Given the description of an element on the screen output the (x, y) to click on. 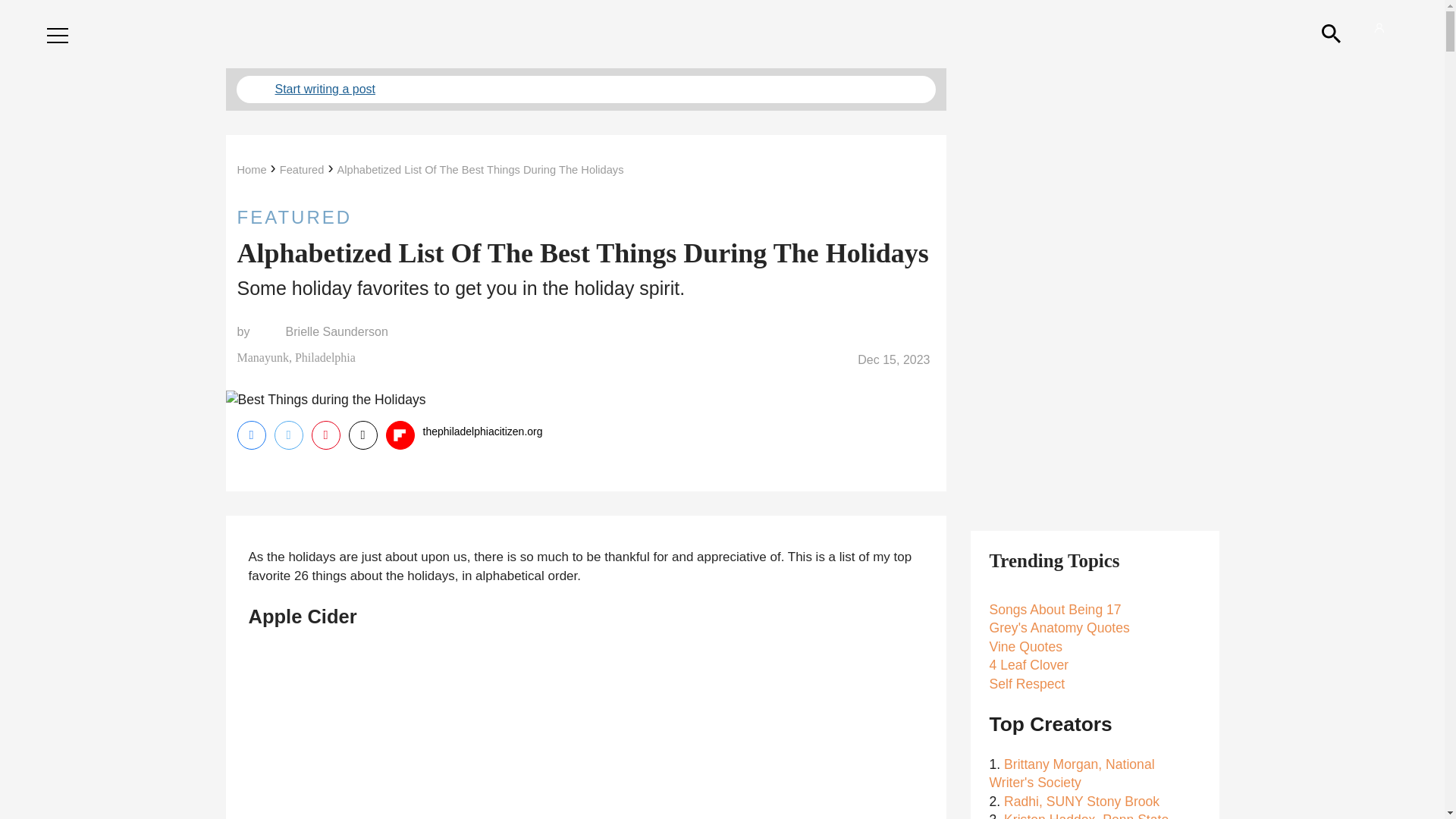
Start writing a post (585, 89)
Featured (301, 169)
Home (250, 169)
